Given the description of an element on the screen output the (x, y) to click on. 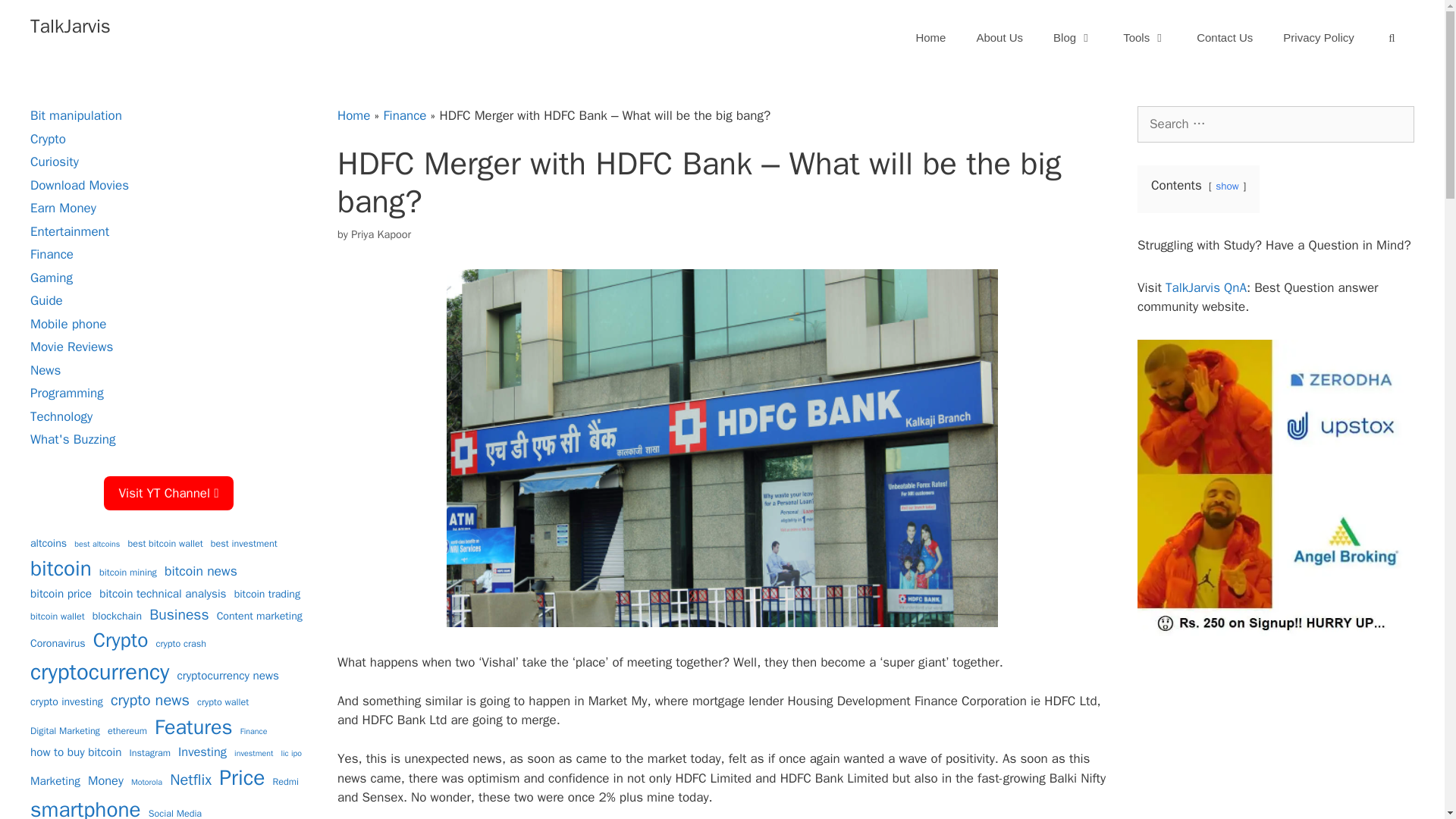
Finance (404, 115)
Home (929, 37)
Privacy Policy (1318, 37)
Priya Kapoor (380, 233)
Search for: (1275, 124)
Contact Us (1224, 37)
TalkJarvis (70, 25)
Home (353, 115)
About Us (999, 37)
View all posts by Priya Kapoor (380, 233)
Blog (1073, 37)
Tools (1144, 37)
